Given the description of an element on the screen output the (x, y) to click on. 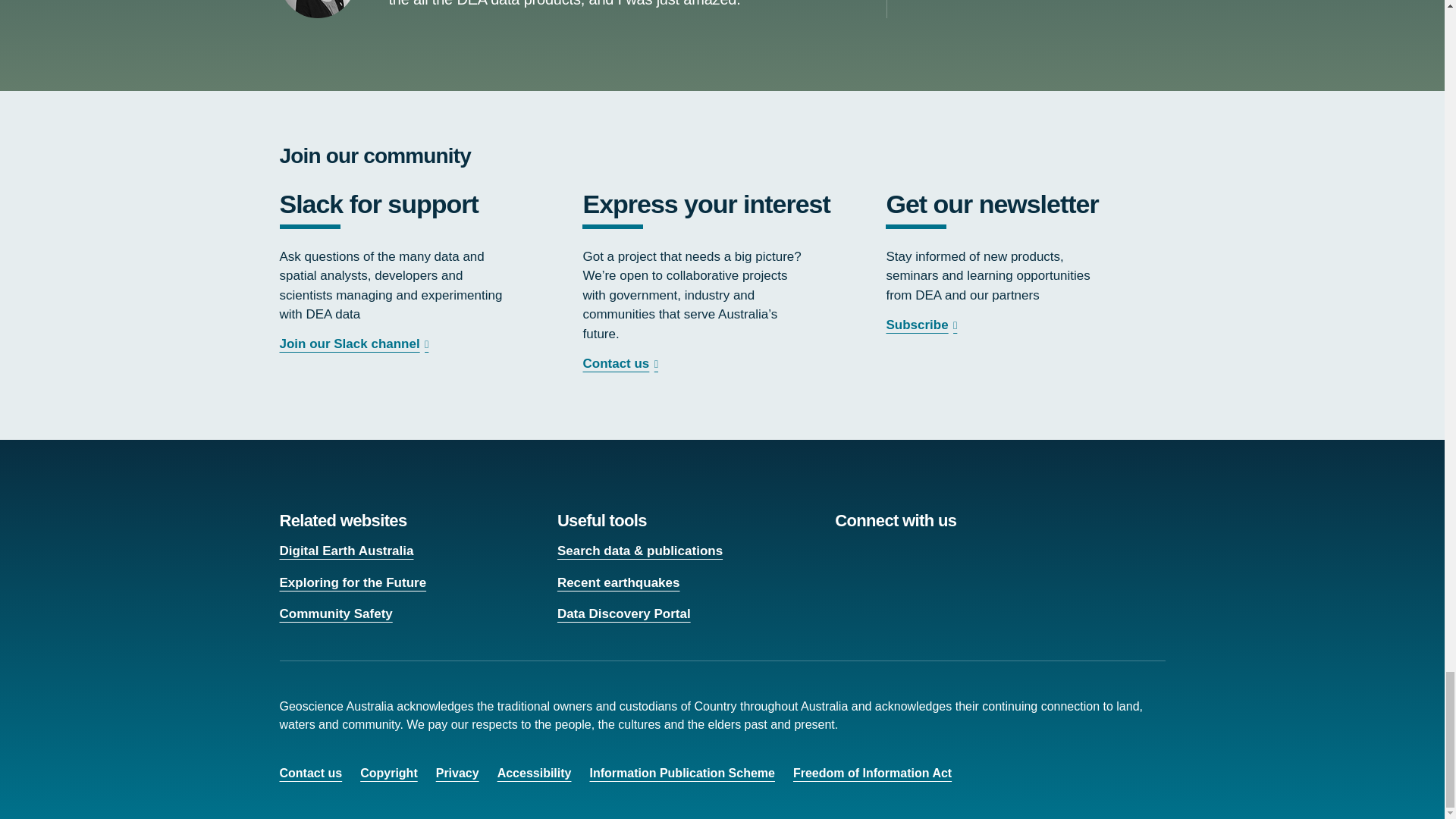
Contact us (622, 363)
Subscribe (922, 324)
Join our Slack channel (355, 343)
Digital Earth Australia (346, 551)
